Given the description of an element on the screen output the (x, y) to click on. 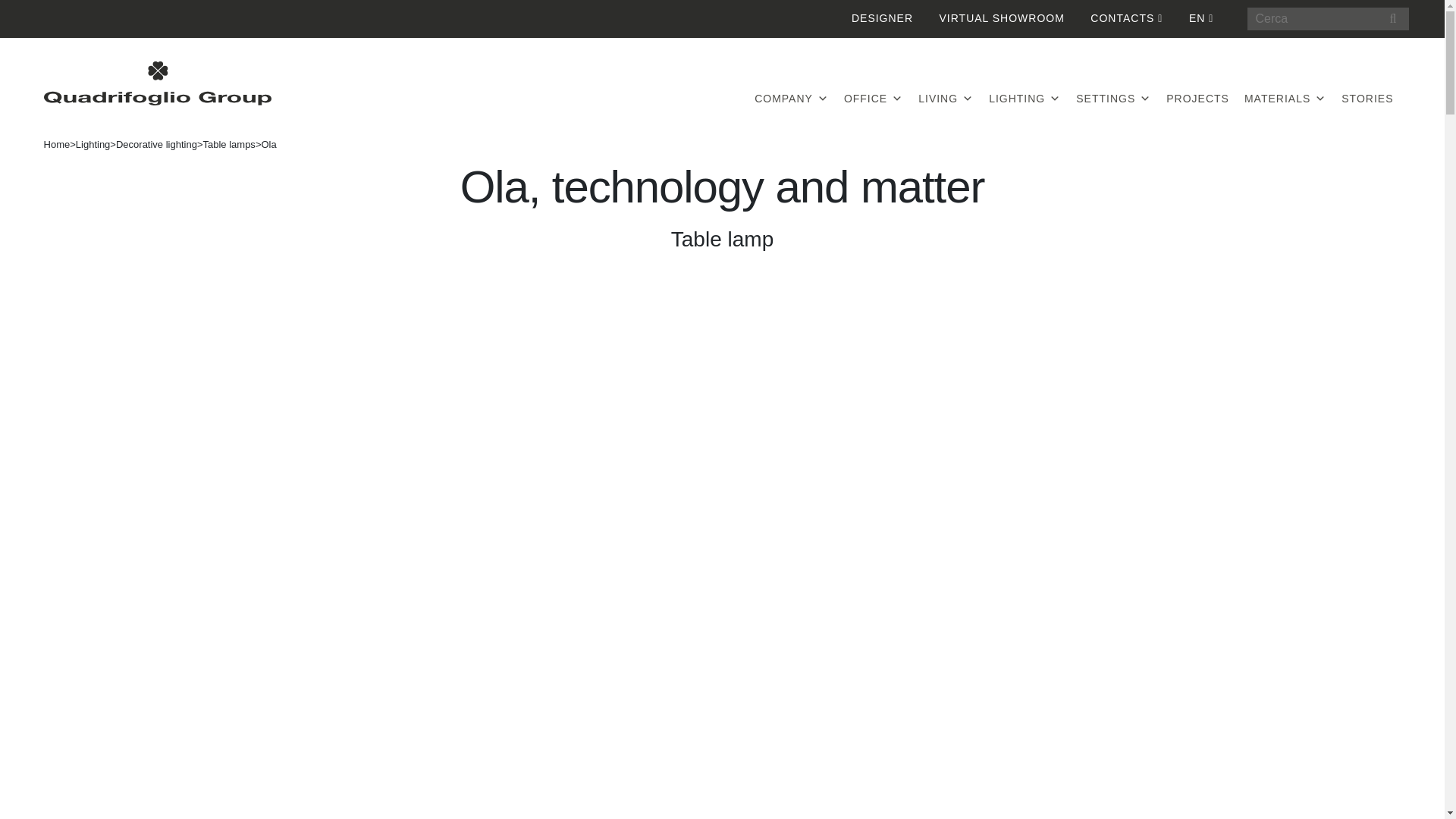
Go to the Table lamps Categoria Prodotto archives. (229, 144)
Vai a Quadrifoglio Group. (56, 144)
Go to the Decorative lighting Categoria Prodotto archives. (156, 144)
CONTACTS (1125, 18)
VIRTUAL SHOWROOM (1001, 18)
DESIGNER (881, 18)
EN (1201, 18)
Contatti (1125, 18)
OFFICE (873, 98)
COMPANY (790, 98)
